Given the description of an element on the screen output the (x, y) to click on. 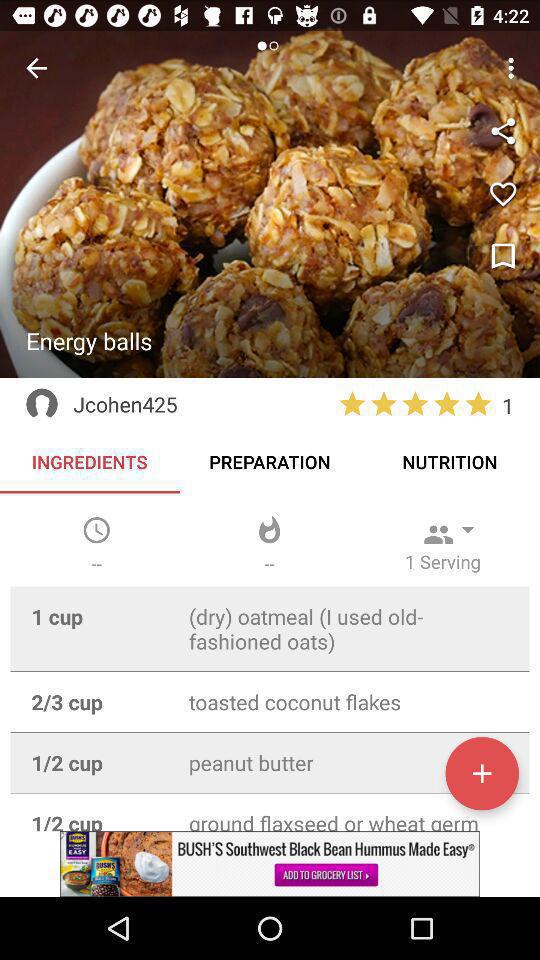
go back (36, 68)
